Given the description of an element on the screen output the (x, y) to click on. 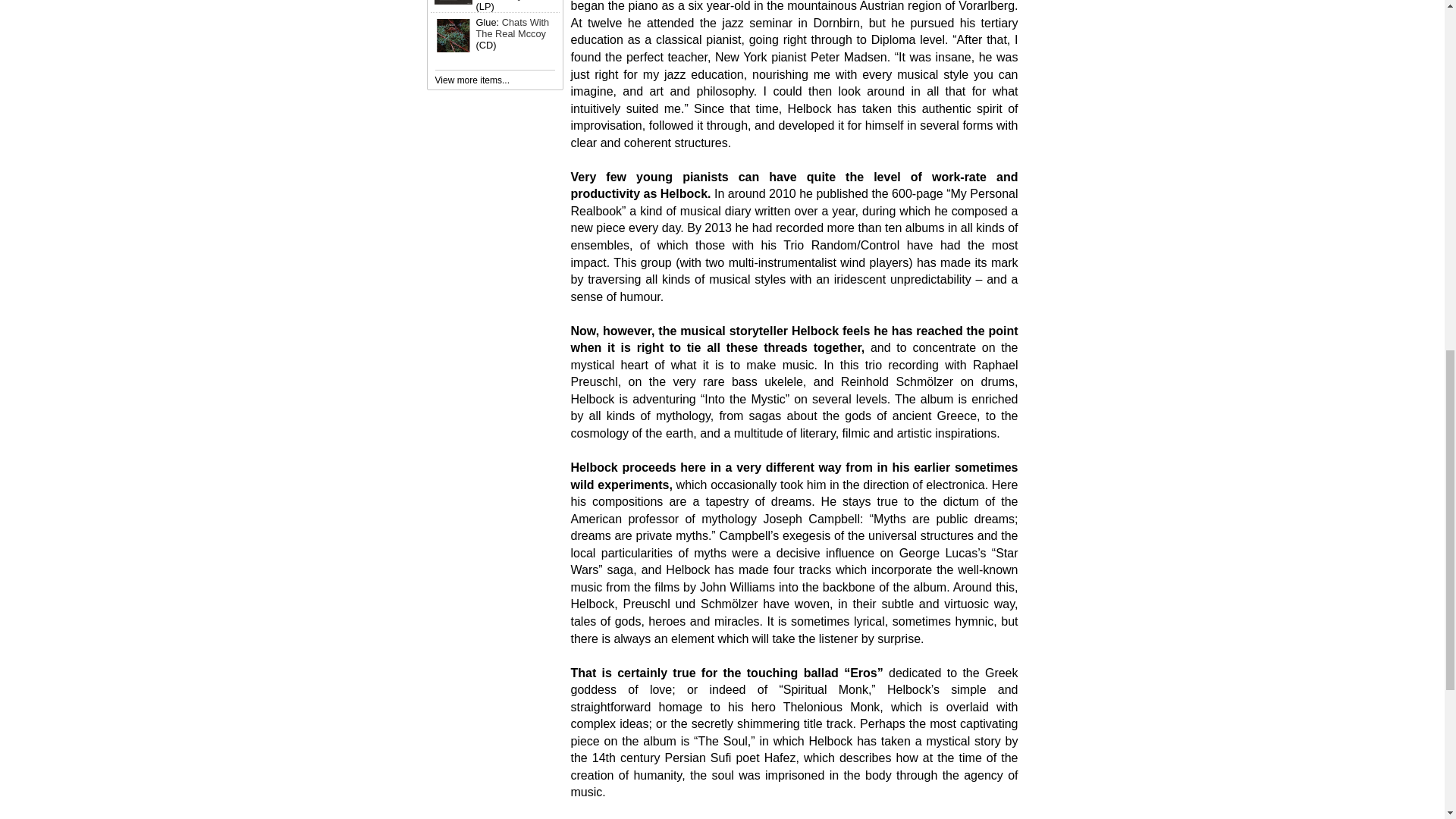
View more items... (472, 80)
Chats With The Real Mccoy (513, 27)
Toshiko Mariano Quartet (511, 0)
